Given the description of an element on the screen output the (x, y) to click on. 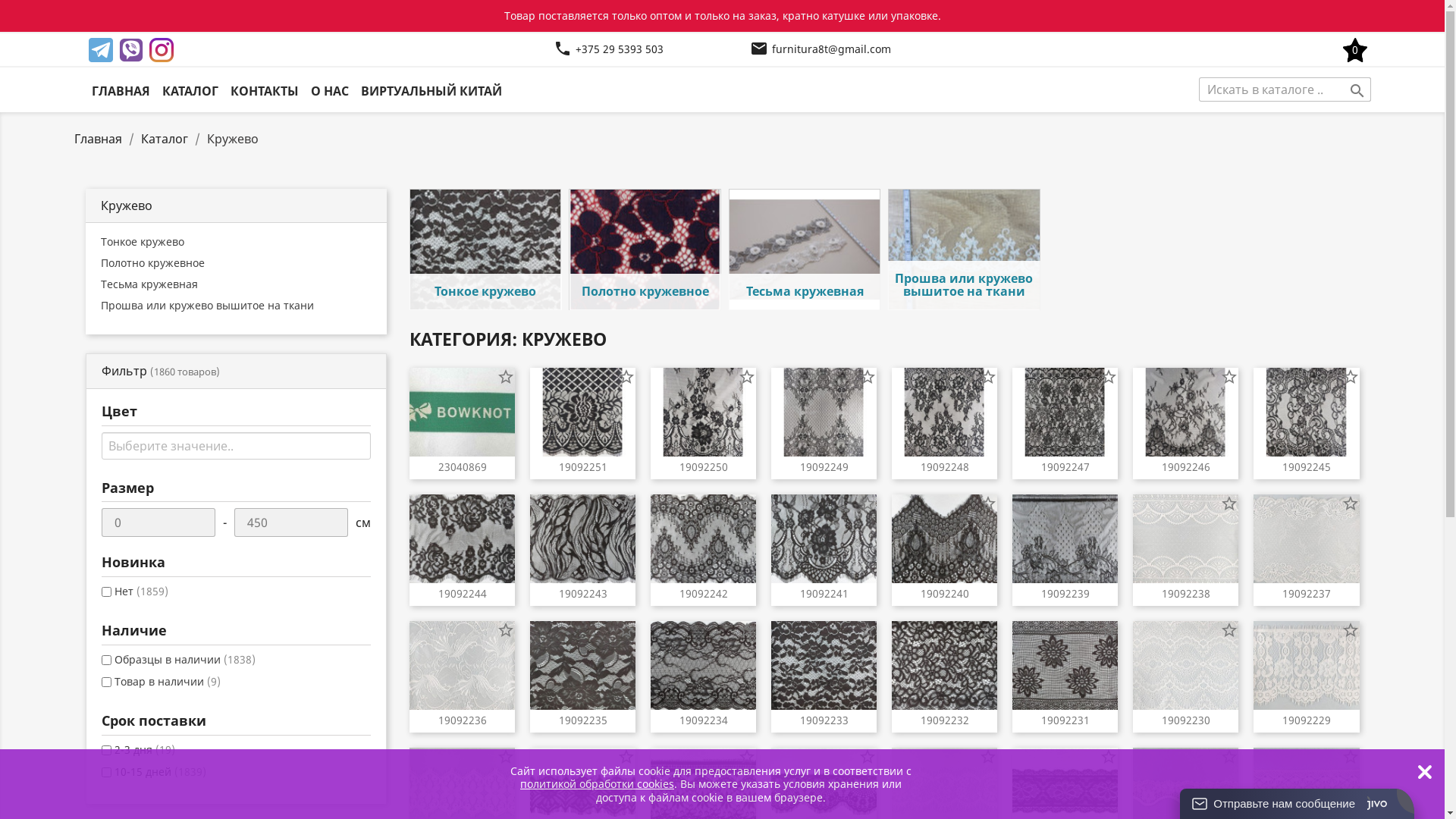
star_border Element type: text (1229, 630)
star_border Element type: text (988, 376)
star_border Element type: text (1108, 630)
star_border Element type: text (1349, 376)
19092235 Element type: text (582, 719)
star_border Element type: text (867, 756)
19092238 Element type: text (1185, 593)
19092237 Element type: text (1306, 593)
star_border Element type: text (1229, 503)
star_border Element type: text (988, 756)
Viber Element type: text (130, 49)
19092242 Element type: text (703, 593)
19092233 Element type: text (823, 719)
star_border Element type: text (626, 630)
star_border Element type: text (867, 376)
star_border Element type: text (626, 503)
19092234 Element type: text (703, 719)
19092231 Element type: text (1064, 719)
19092244 Element type: text (462, 593)
Instagram Element type: text (160, 49)
19092243 Element type: text (582, 593)
19092239 Element type: text (1064, 593)
19092236 Element type: text (462, 719)
star_border Element type: text (867, 503)
star_border Element type: text (1349, 630)
23040869 Element type: text (462, 466)
19092232 Element type: text (944, 719)
star_border Element type: text (988, 503)
star_border Element type: text (746, 376)
19092249 Element type: text (823, 466)
19092247 Element type: text (1064, 466)
19092251 Element type: text (582, 466)
star_border Element type: text (626, 376)
star_border Element type: text (746, 756)
star_border Element type: text (1108, 376)
star_border Element type: text (505, 756)
call+375 29 5393 503 Element type: text (608, 49)
19092240 Element type: text (944, 593)
Telegram Element type: text (99, 49)
star_border Element type: text (505, 503)
star_border Element type: text (746, 503)
mailfurnitura8t@gmail.com Element type: text (820, 49)
star_border Element type: text (867, 630)
star_border Element type: text (626, 756)
19092248 Element type: text (944, 466)
star_border Element type: text (988, 630)
star_border Element type: text (1349, 503)
19092245 Element type: text (1306, 466)
19092250 Element type: text (703, 466)
star_border Element type: text (1108, 503)
star_border Element type: text (1108, 756)
0 Element type: text (1355, 49)
star_border Element type: text (505, 630)
star_border Element type: text (505, 376)
19092241 Element type: text (823, 593)
19092229 Element type: text (1306, 719)
star_border Element type: text (1349, 756)
19092246 Element type: text (1185, 466)
star_border Element type: text (1229, 756)
19092230 Element type: text (1185, 719)
star_border Element type: text (746, 630)
star_border Element type: text (1229, 376)
